Given the description of an element on the screen output the (x, y) to click on. 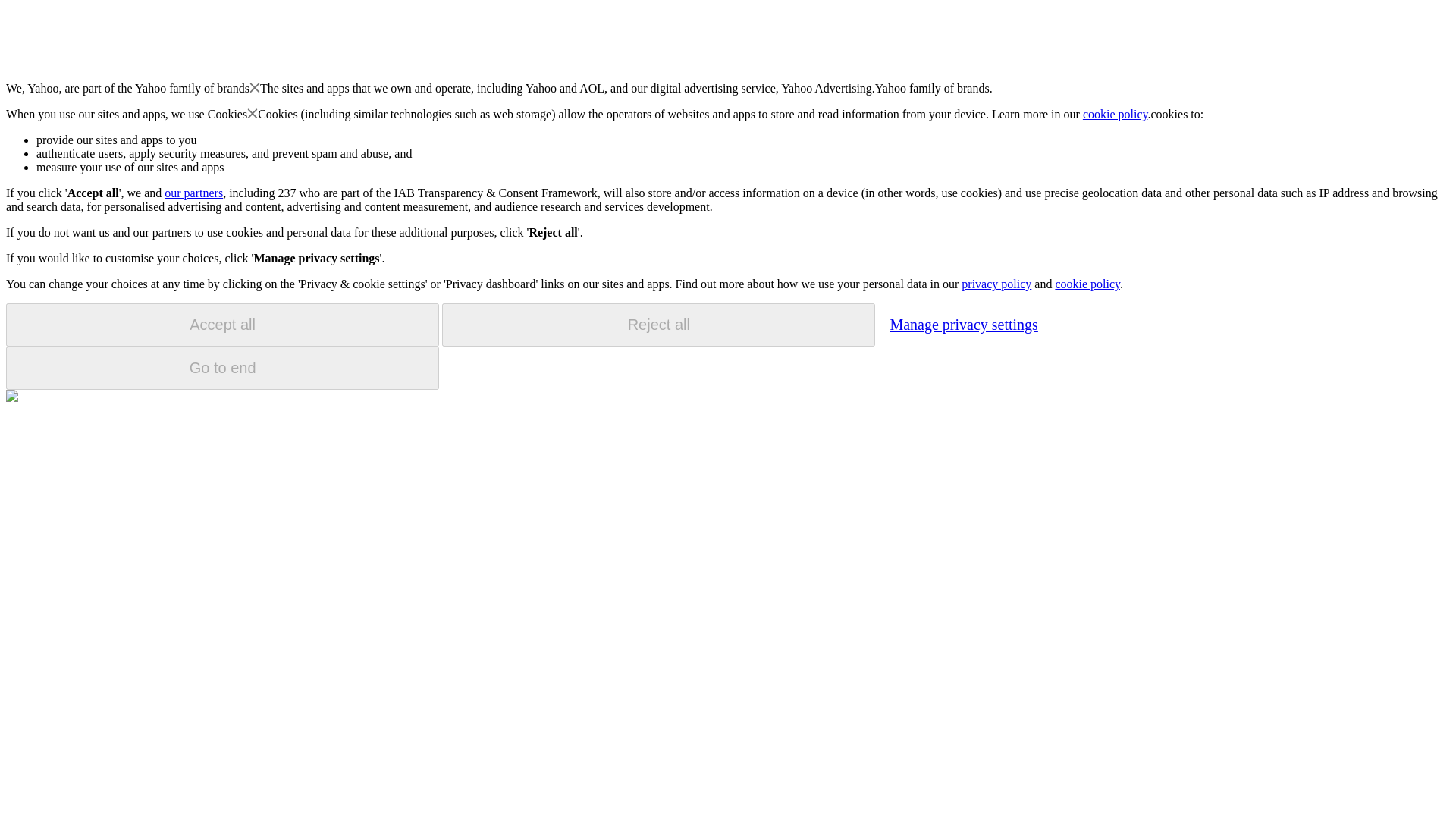
cookie policy (1115, 113)
cookie policy (1086, 283)
Reject all (658, 324)
privacy policy (995, 283)
our partners (193, 192)
Manage privacy settings (963, 323)
Go to end (222, 367)
Accept all (222, 324)
